Given the description of an element on the screen output the (x, y) to click on. 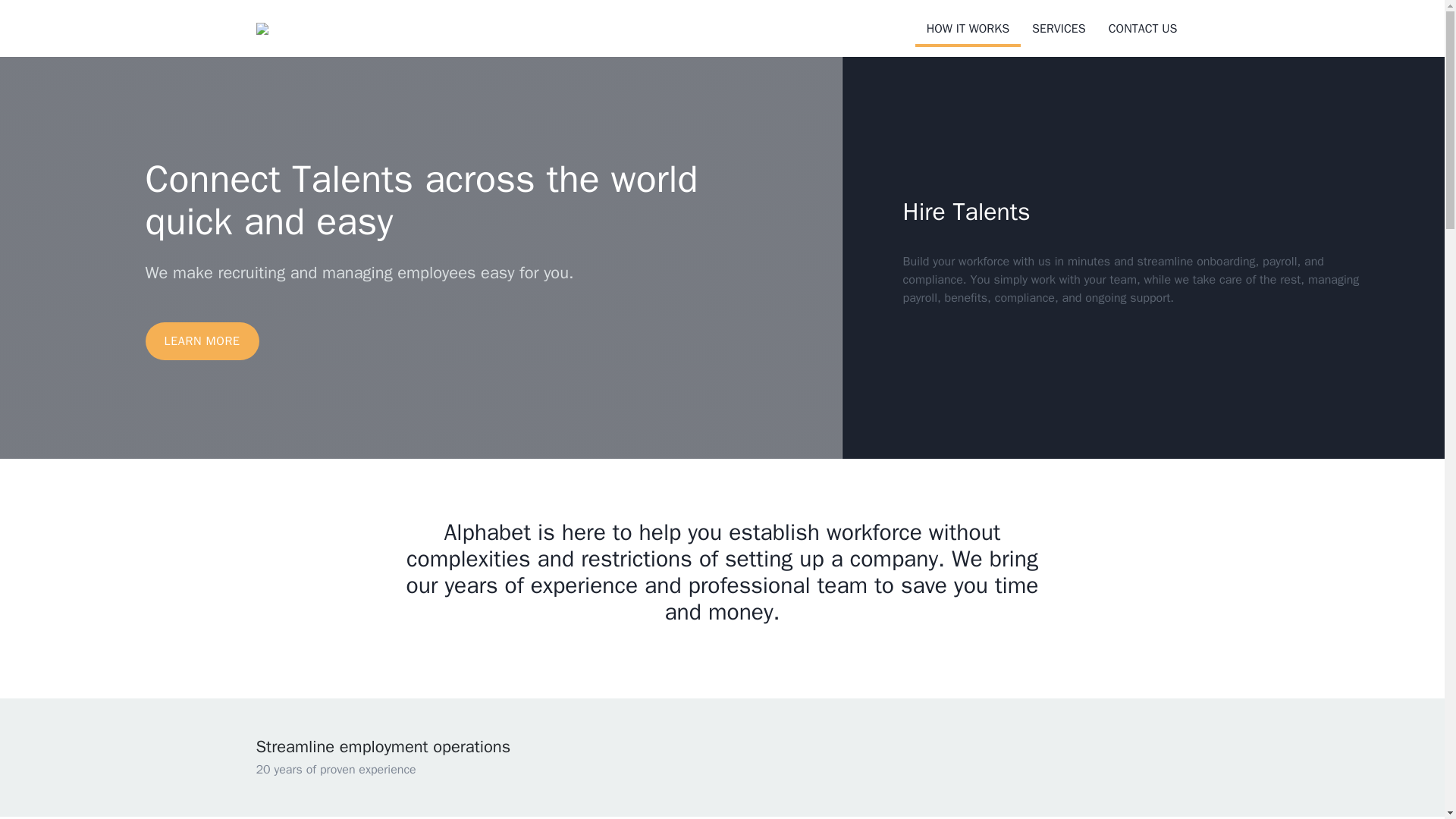
HOW IT WORKS (967, 29)
SERVICES (1058, 28)
LEARN MORE (202, 341)
CONTACT US (1143, 28)
